Given the description of an element on the screen output the (x, y) to click on. 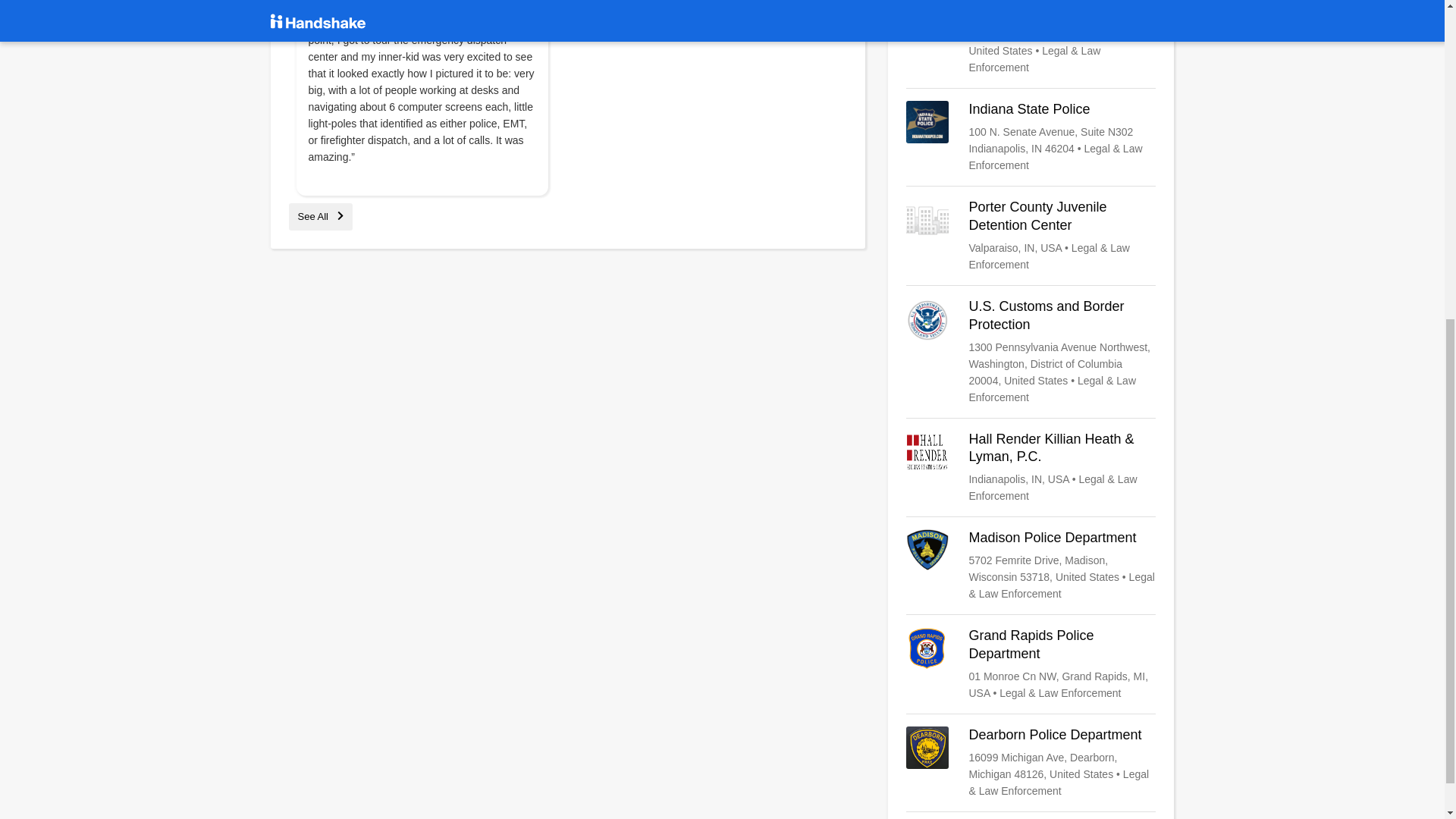
Dearborn Police Department (1030, 762)
Evan Guthrie Law Firm (1030, 38)
Madison Police Department (1030, 565)
See All (320, 215)
Porter County Juvenile Detention Center (1030, 235)
Indiana State Police (1030, 136)
U.S. Customs and Border Protection (1030, 351)
Grand Rapids Police Department (1030, 664)
